Given the description of an element on the screen output the (x, y) to click on. 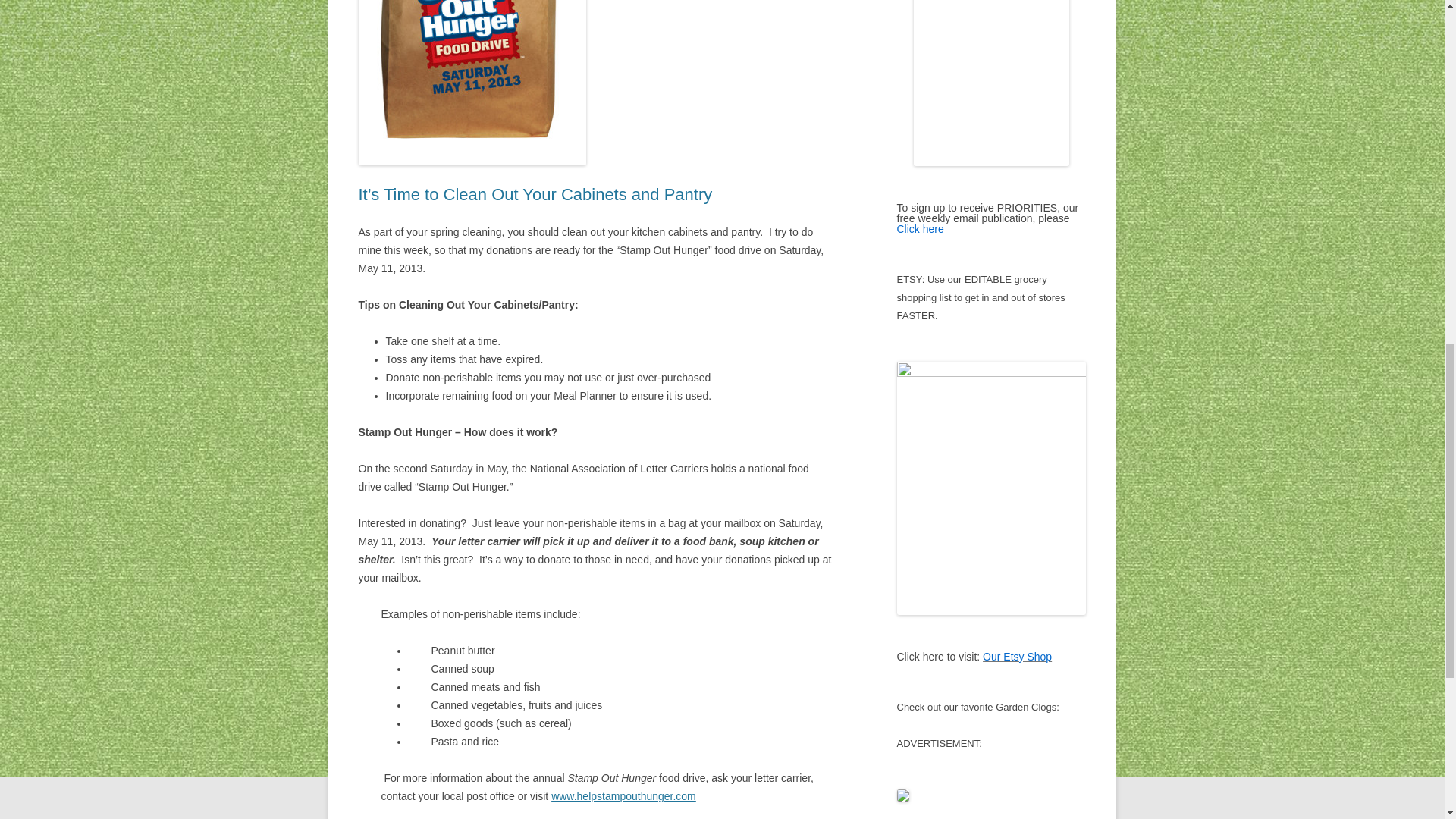
www.helpstampouthunger.com (623, 796)
Click here (919, 228)
Our Etsy Shop (1016, 656)
